Given the description of an element on the screen output the (x, y) to click on. 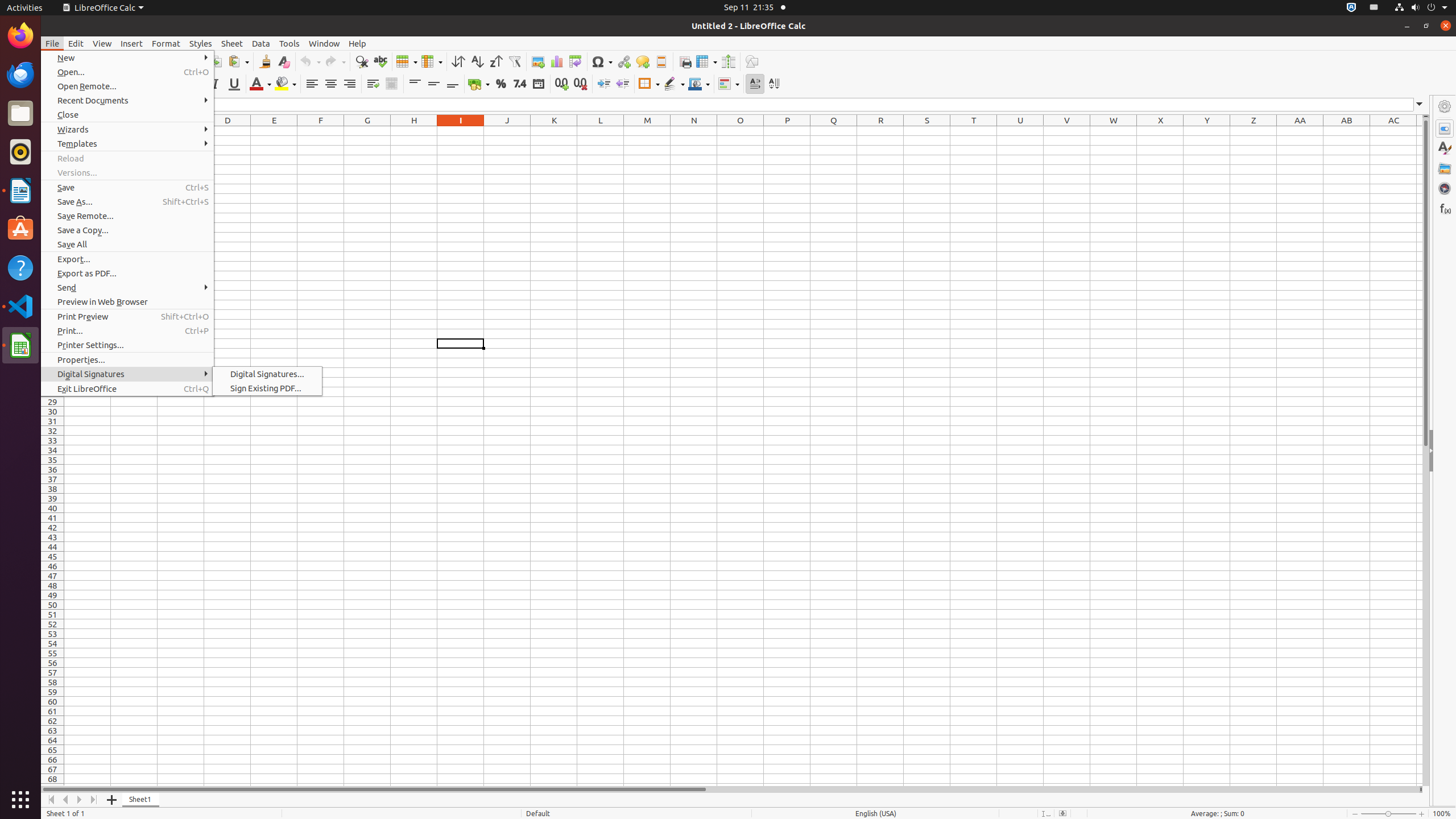
Reload Element type: menu-item (126, 158)
Text direction from left to right Element type: toggle-button (754, 83)
Expand Formula Bar Element type: push-button (1419, 104)
Open... Element type: menu-item (126, 71)
Save As... Element type: menu-item (126, 201)
